Given the description of an element on the screen output the (x, y) to click on. 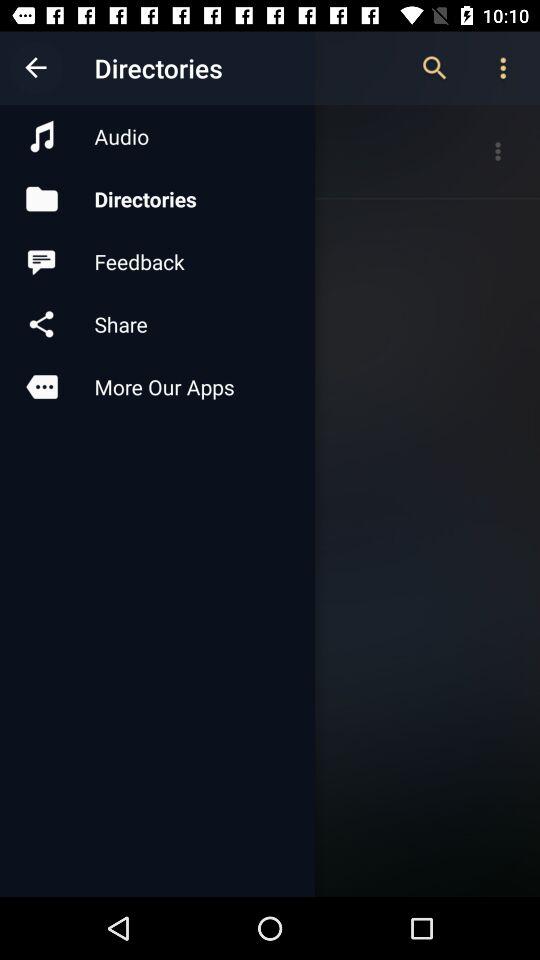
press item next to audio item (434, 67)
